Given the description of an element on the screen output the (x, y) to click on. 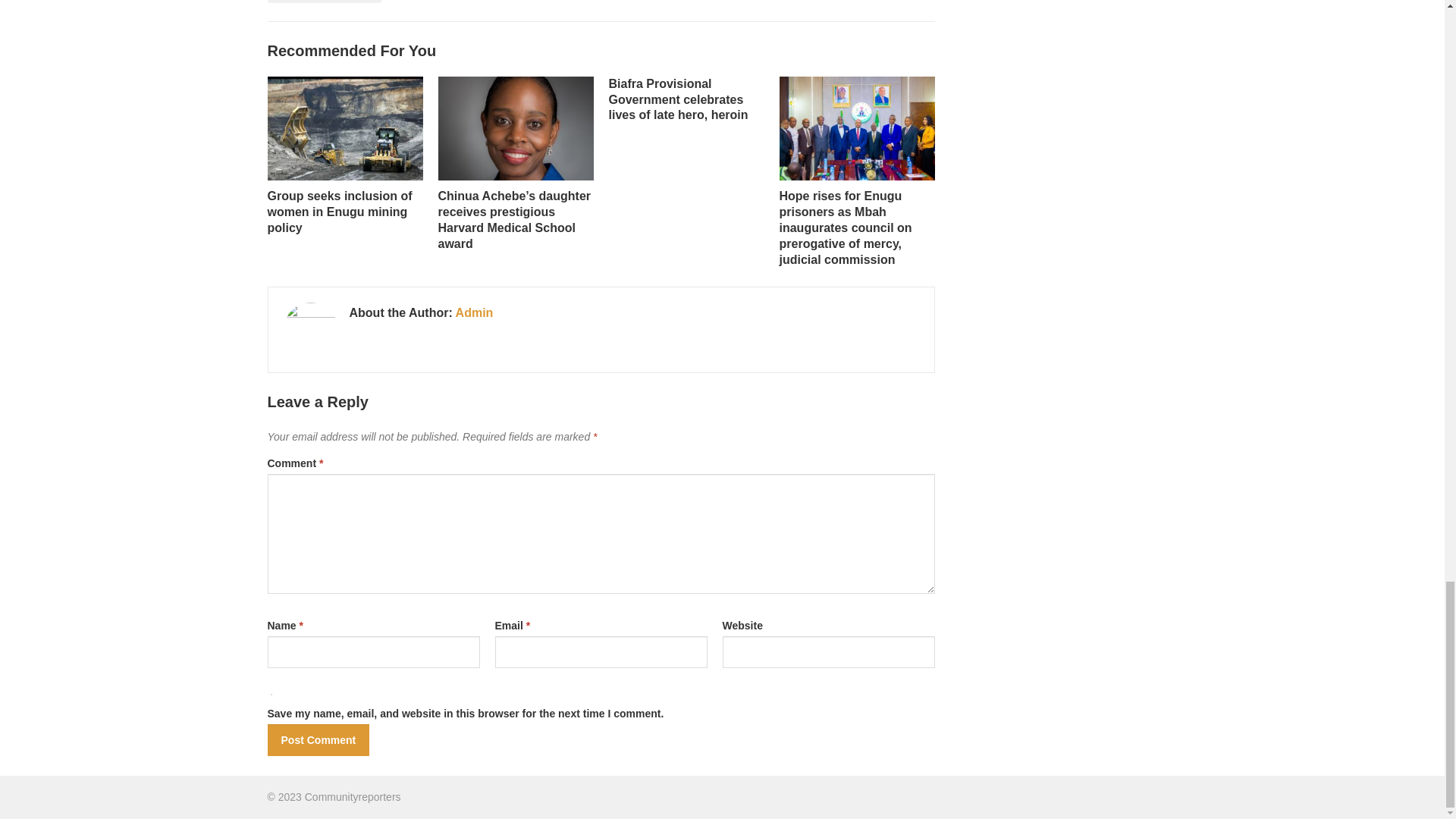
Post Comment (317, 739)
